Given the description of an element on the screen output the (x, y) to click on. 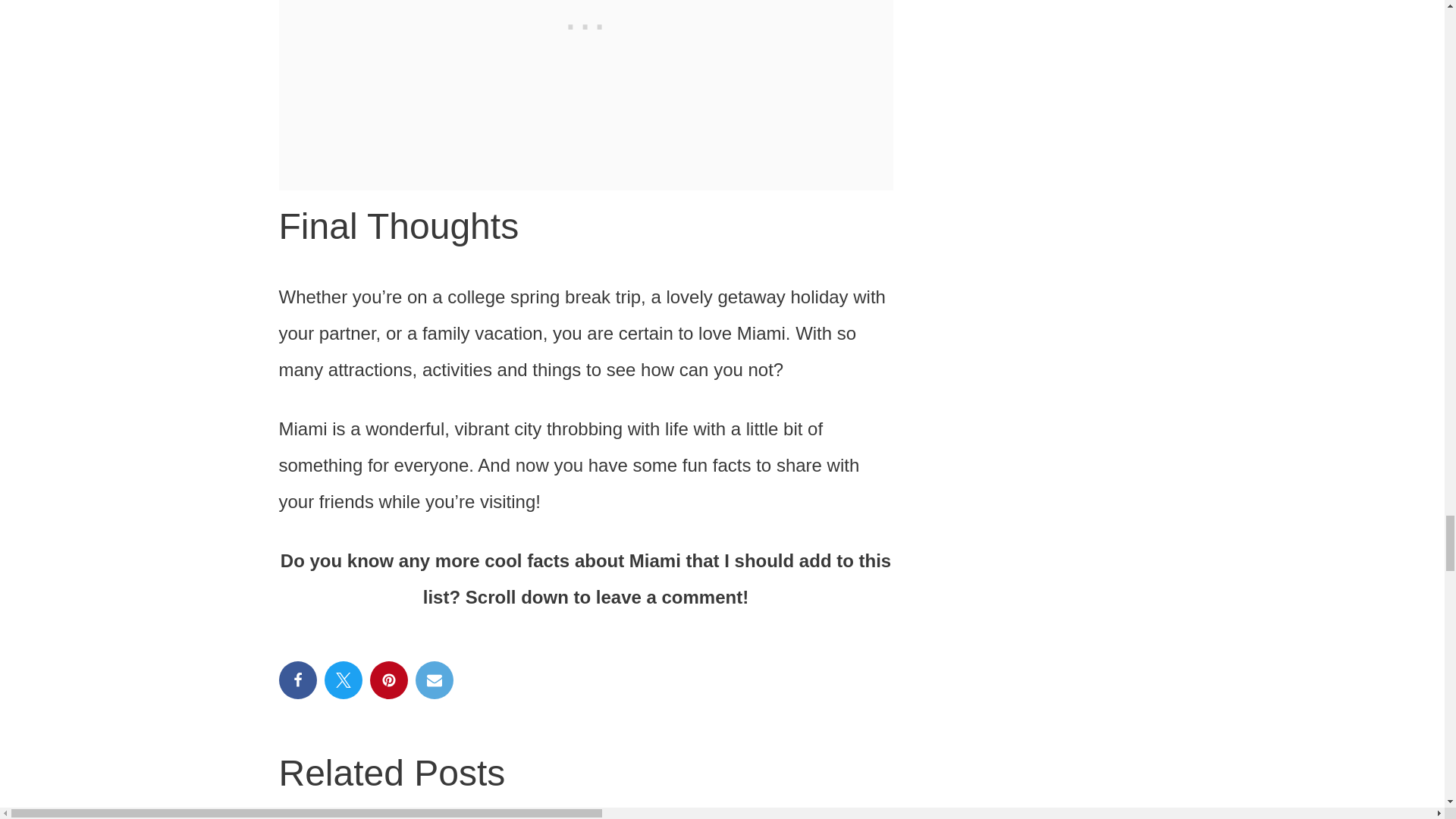
Pinterest (388, 679)
Facebook (298, 679)
Email (433, 679)
Twitter (343, 679)
